Given the description of an element on the screen output the (x, y) to click on. 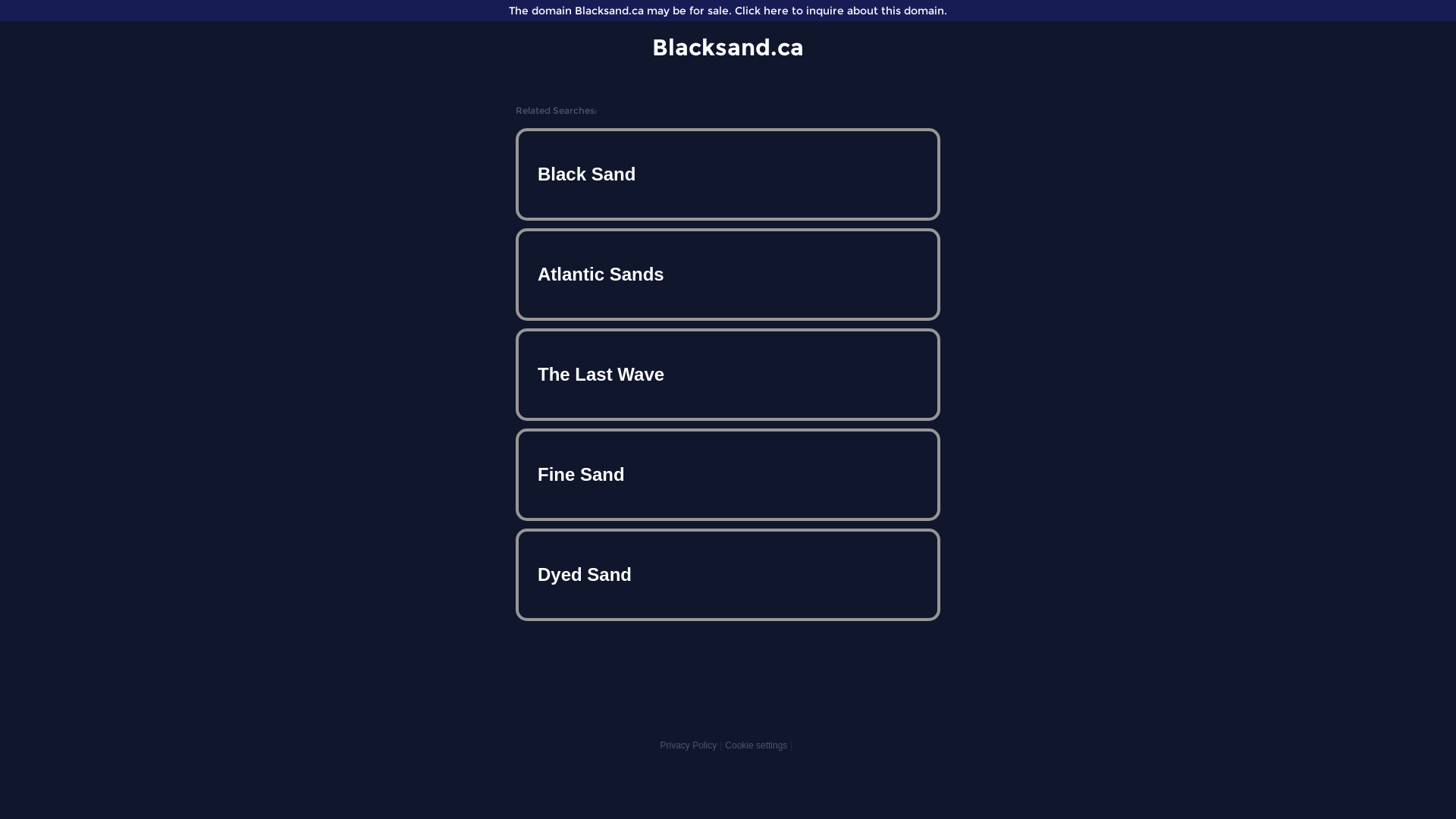
Black Sand Element type: text (727, 174)
Blacksand.ca Element type: text (727, 47)
Dyed Sand Element type: text (727, 574)
Atlantic Sands Element type: text (727, 274)
The Last Wave Element type: text (727, 374)
Fine Sand Element type: text (727, 474)
Privacy Policy Element type: text (687, 745)
Cookie settings Element type: text (755, 745)
